Given the description of an element on the screen output the (x, y) to click on. 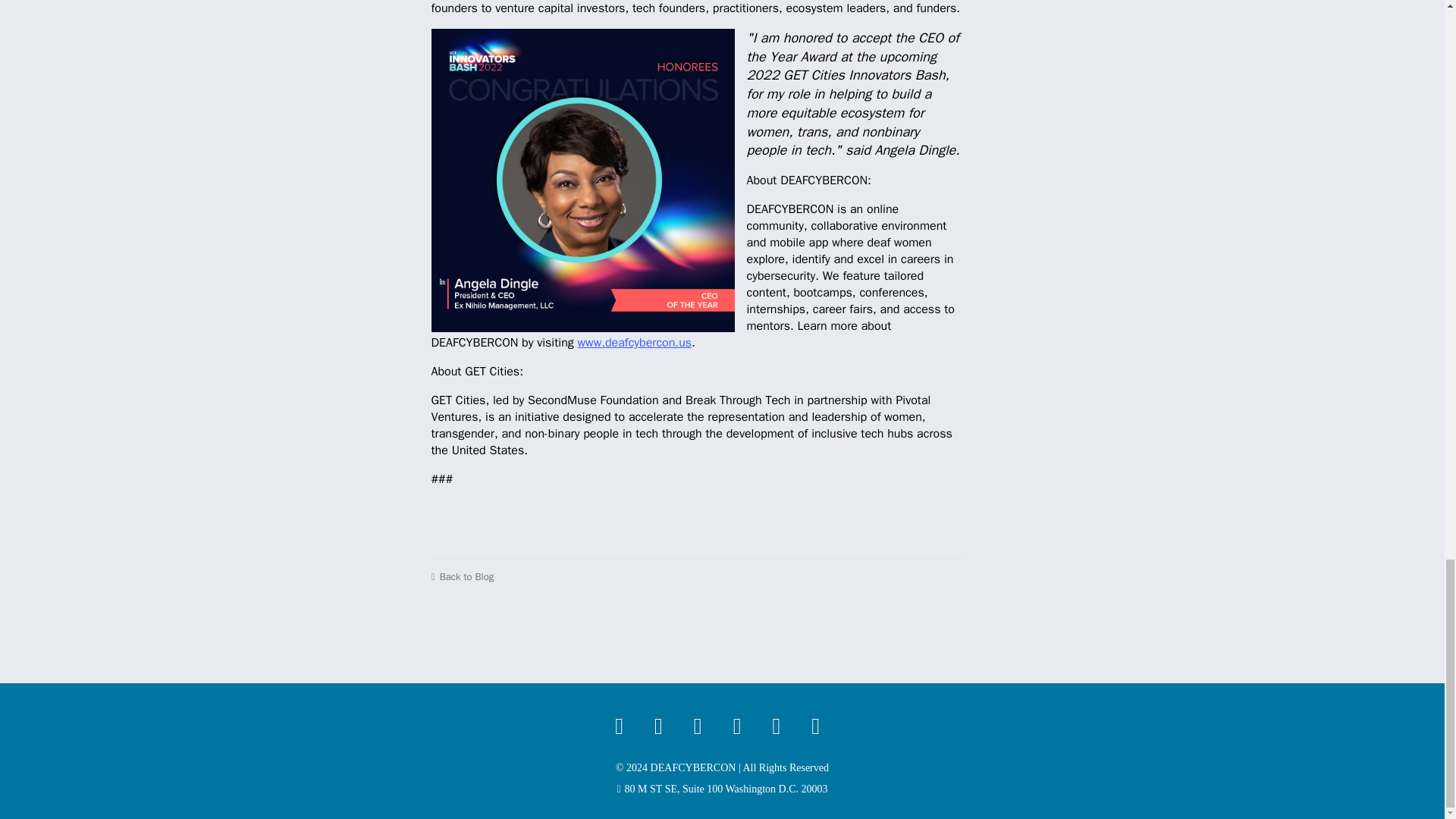
Back to Blog (695, 576)
www.deafcybercon.us (635, 342)
CEO of the Year (581, 180)
